Given the description of an element on the screen output the (x, y) to click on. 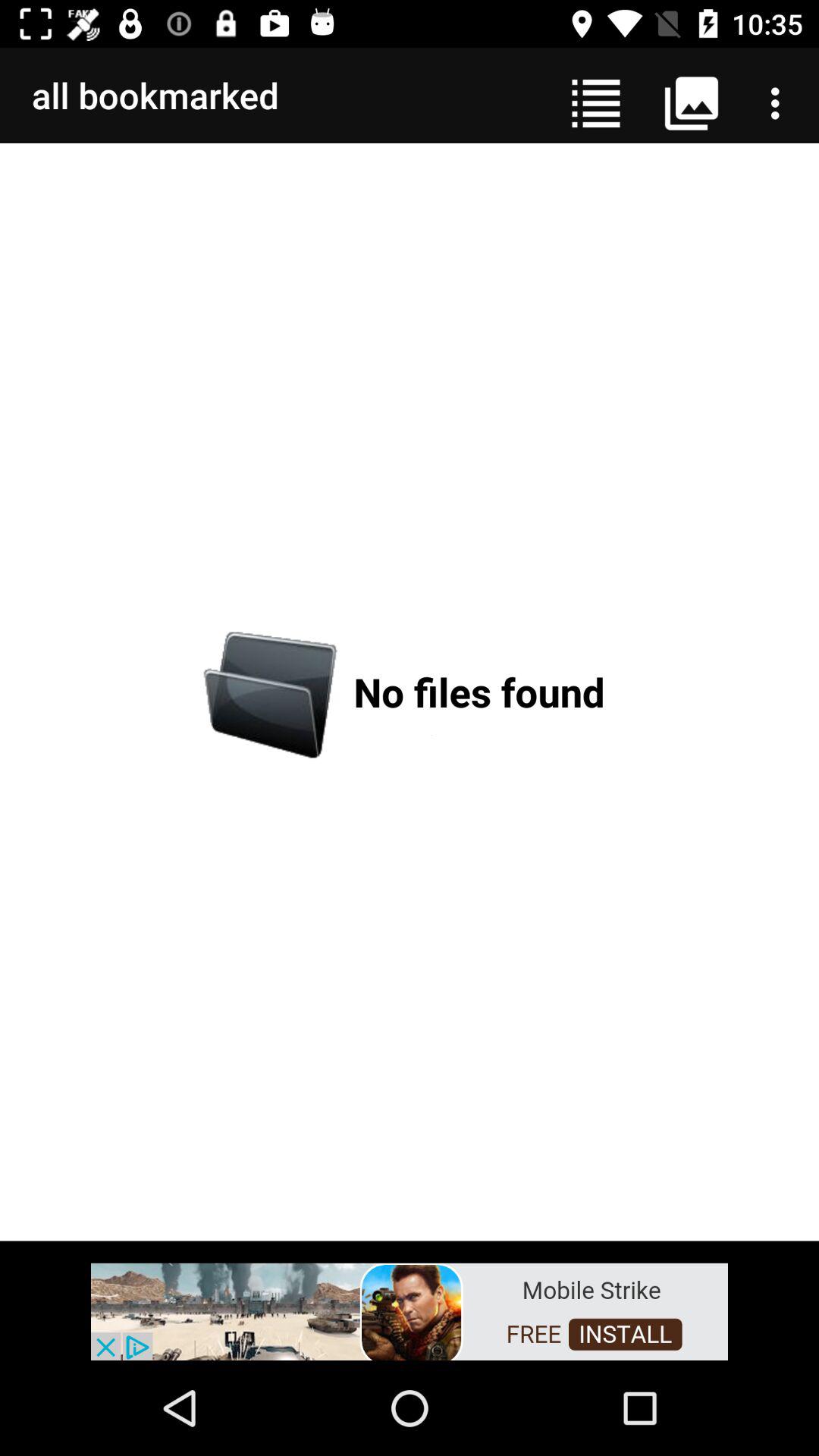
advisement area (409, 1310)
